Given the description of an element on the screen output the (x, y) to click on. 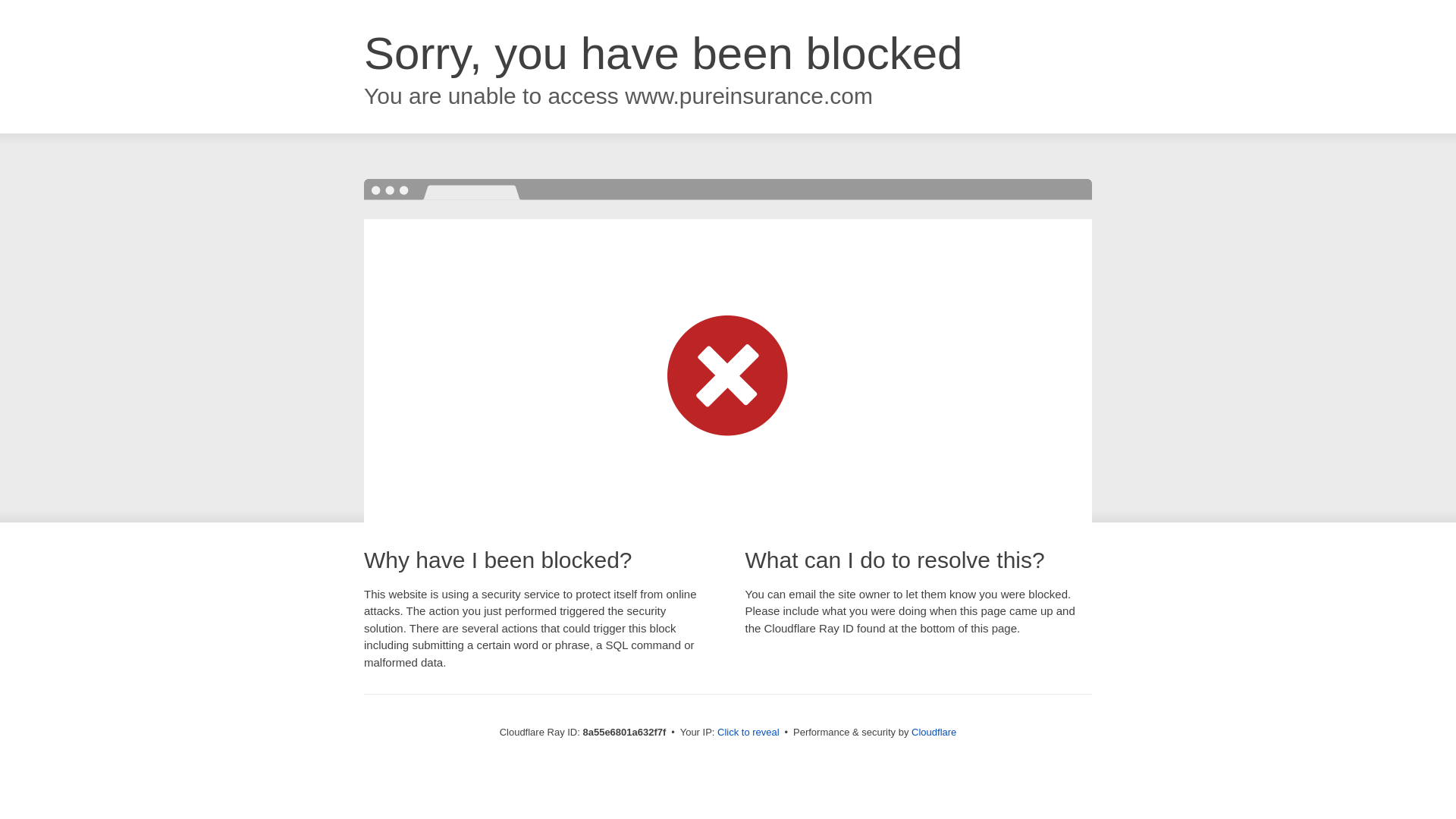
Click to reveal (747, 732)
Cloudflare (933, 731)
